Given the description of an element on the screen output the (x, y) to click on. 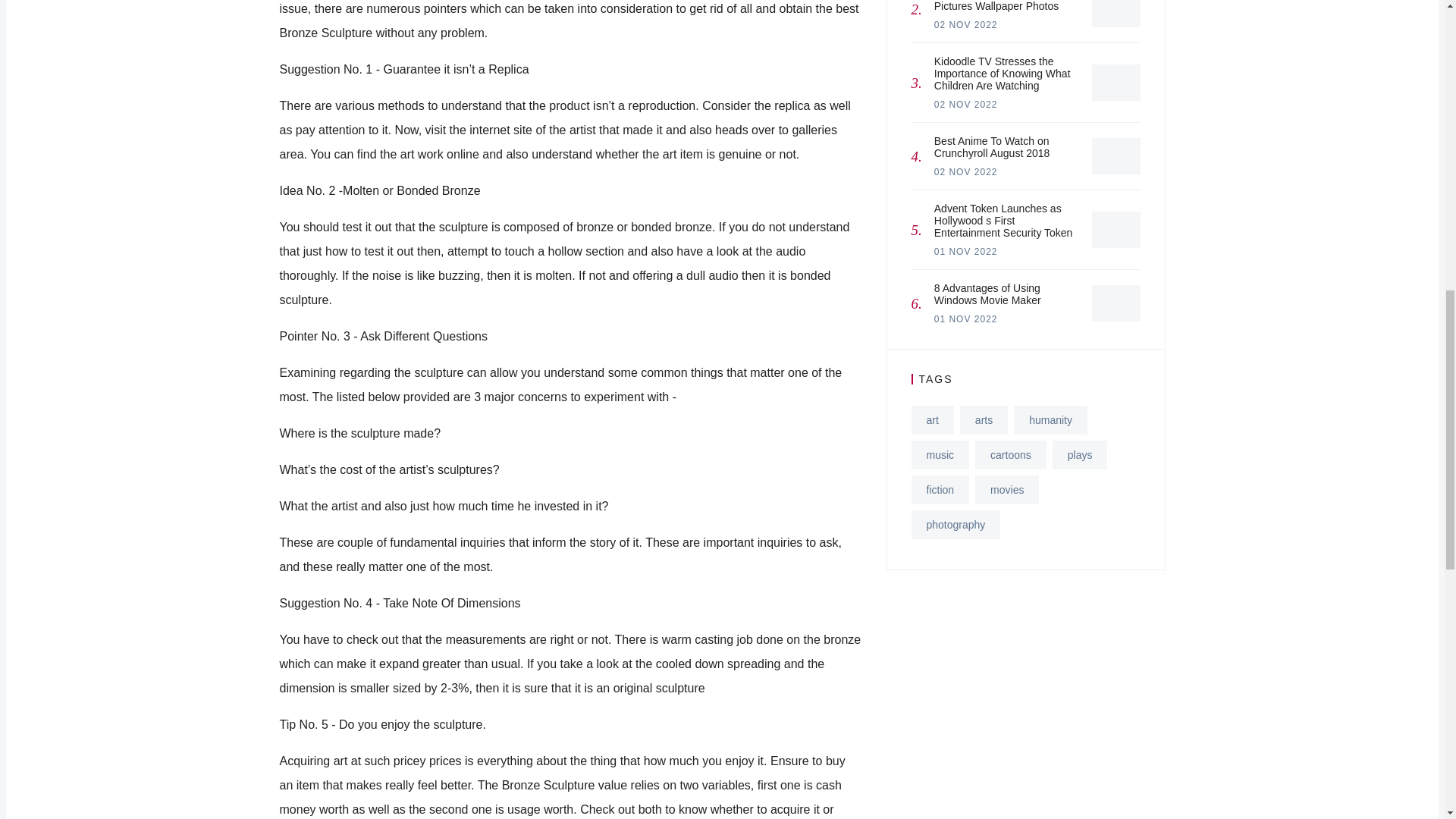
plays (1080, 454)
movies (1007, 489)
music (940, 454)
01 Nov 2022 (965, 318)
humanity (1050, 419)
cartoons (1010, 454)
arts (983, 419)
photography (956, 524)
